Given the description of an element on the screen output the (x, y) to click on. 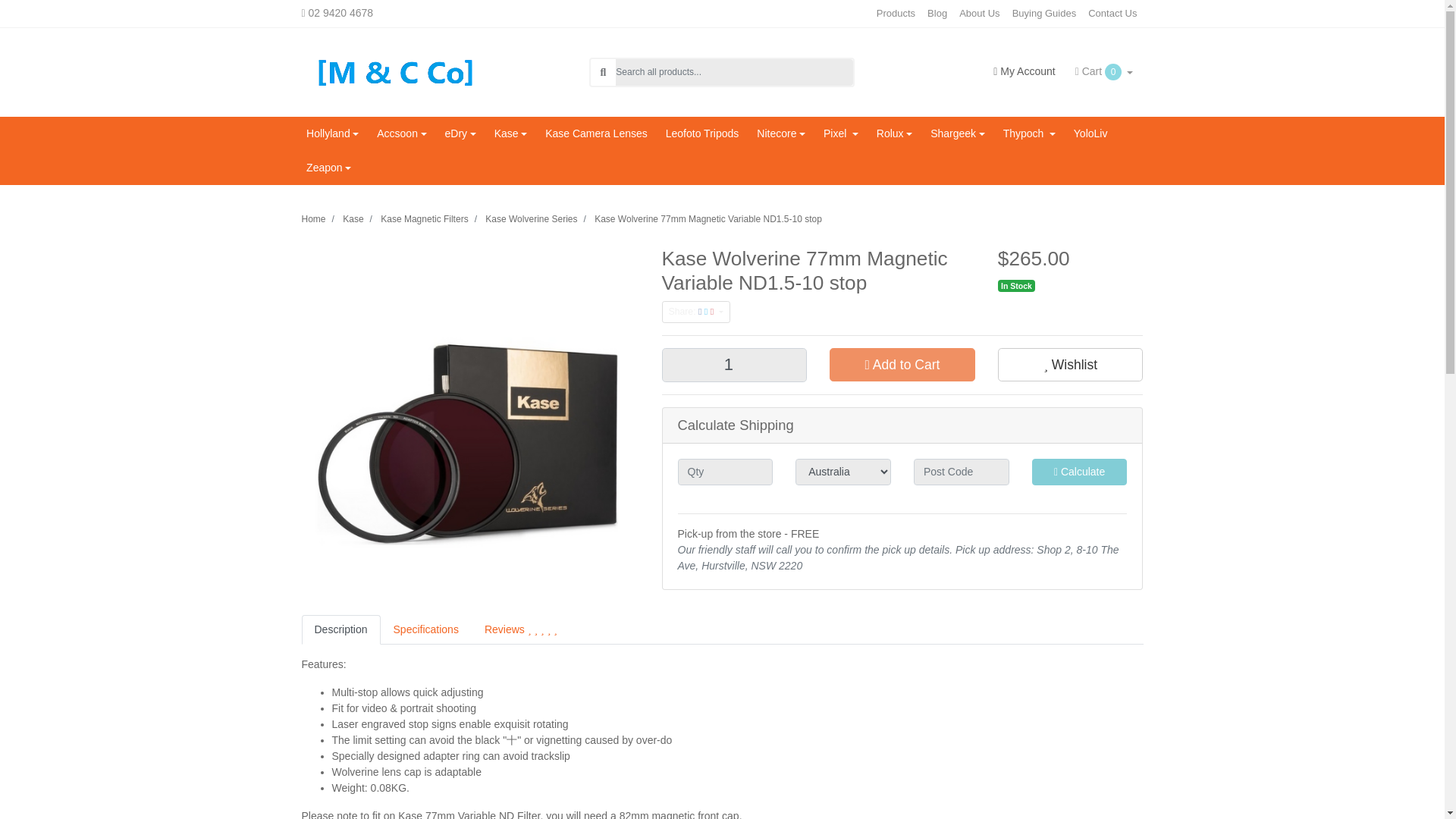
Contact Us (1111, 13)
eDry (459, 133)
Add To Wishlist (1069, 364)
Kase (509, 133)
Hollyland (332, 133)
Blog (937, 13)
Calculate (1079, 471)
About Us (979, 13)
Products (895, 13)
